Given the description of an element on the screen output the (x, y) to click on. 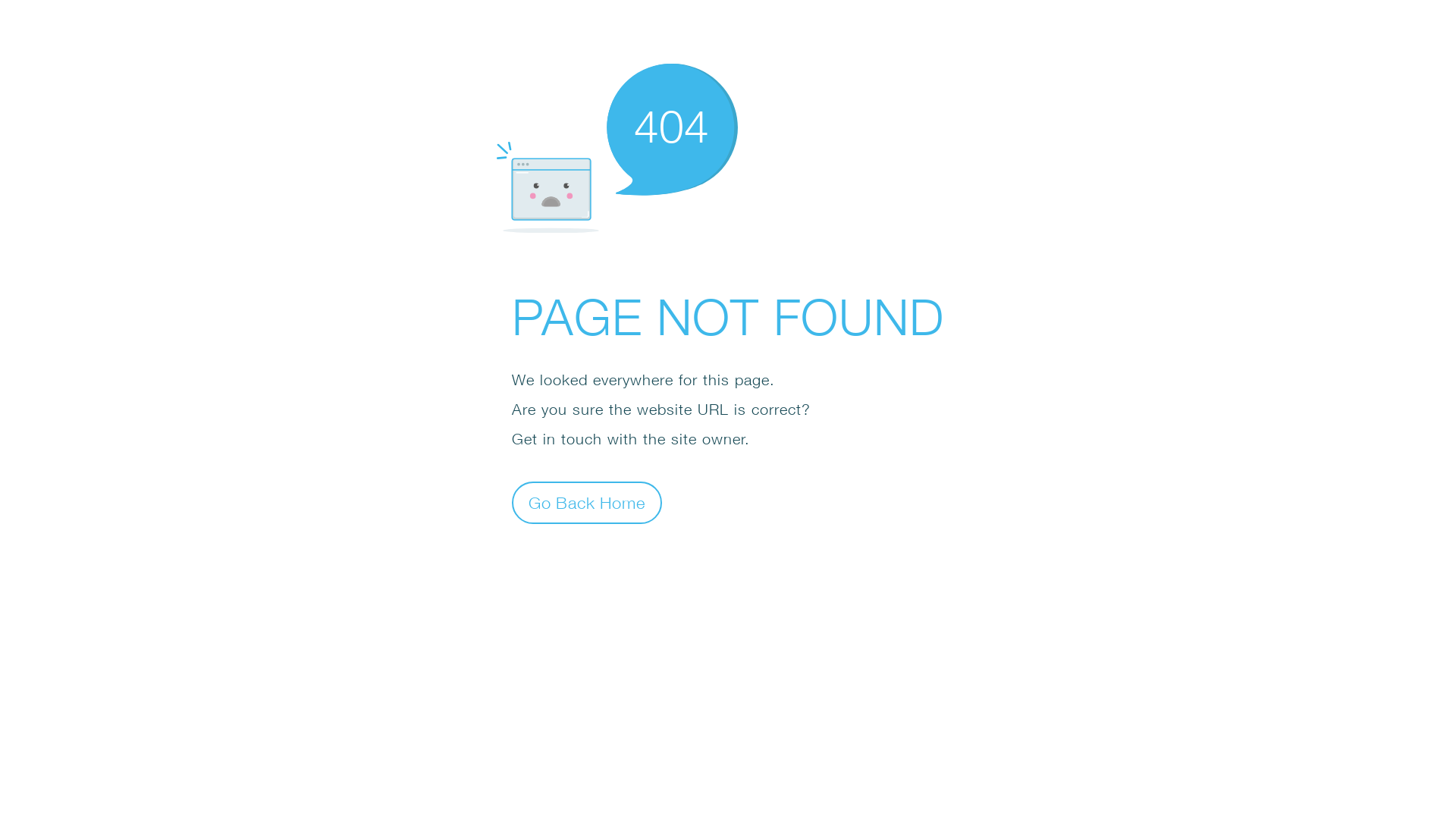
Go Back Home Element type: text (586, 502)
